Given the description of an element on the screen output the (x, y) to click on. 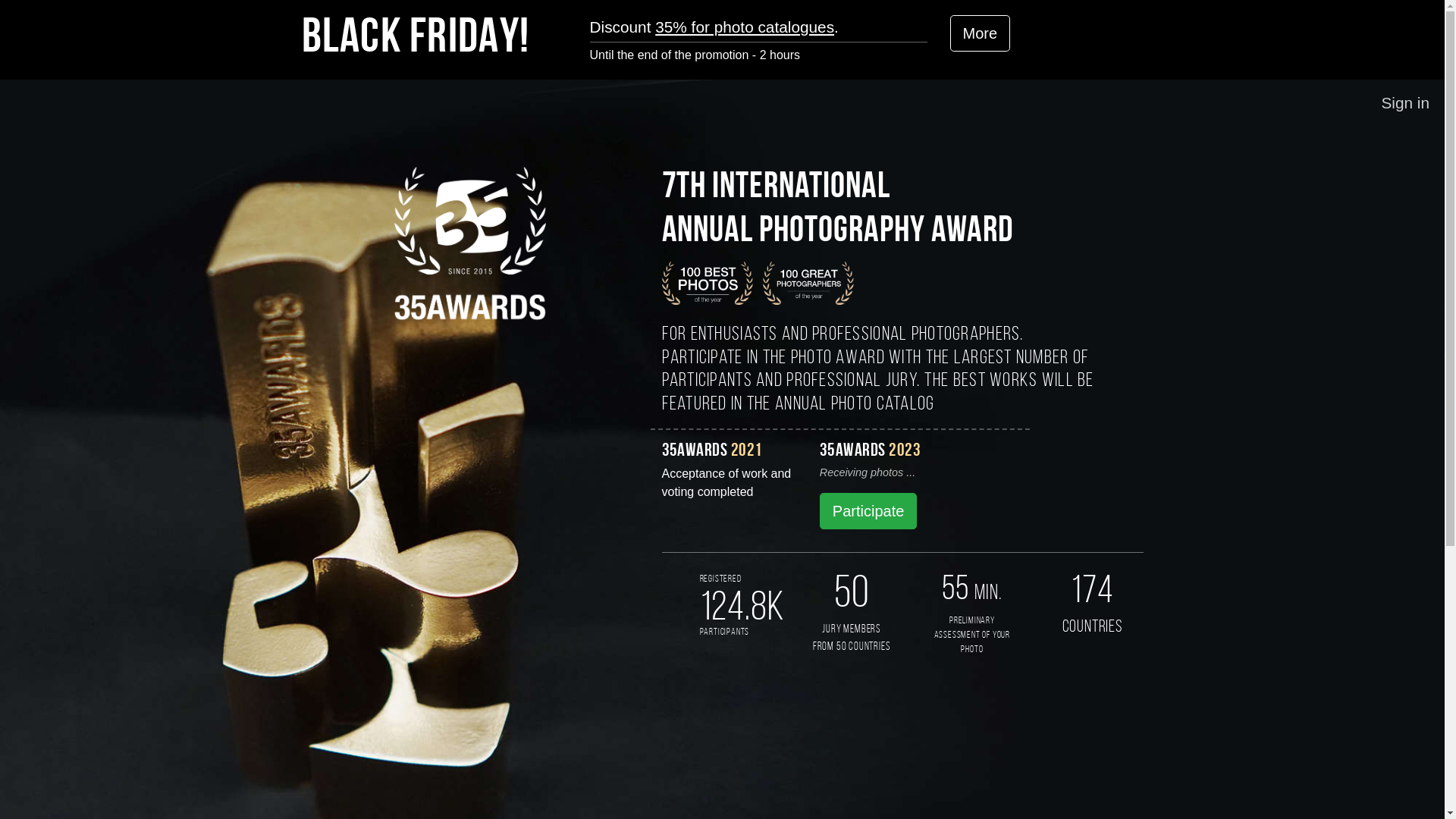
35% for photo catalogues Element type: text (744, 26)
More Element type: text (979, 33)
Participate Element type: text (868, 510)
Sign in Element type: text (1404, 102)
